Given the description of an element on the screen output the (x, y) to click on. 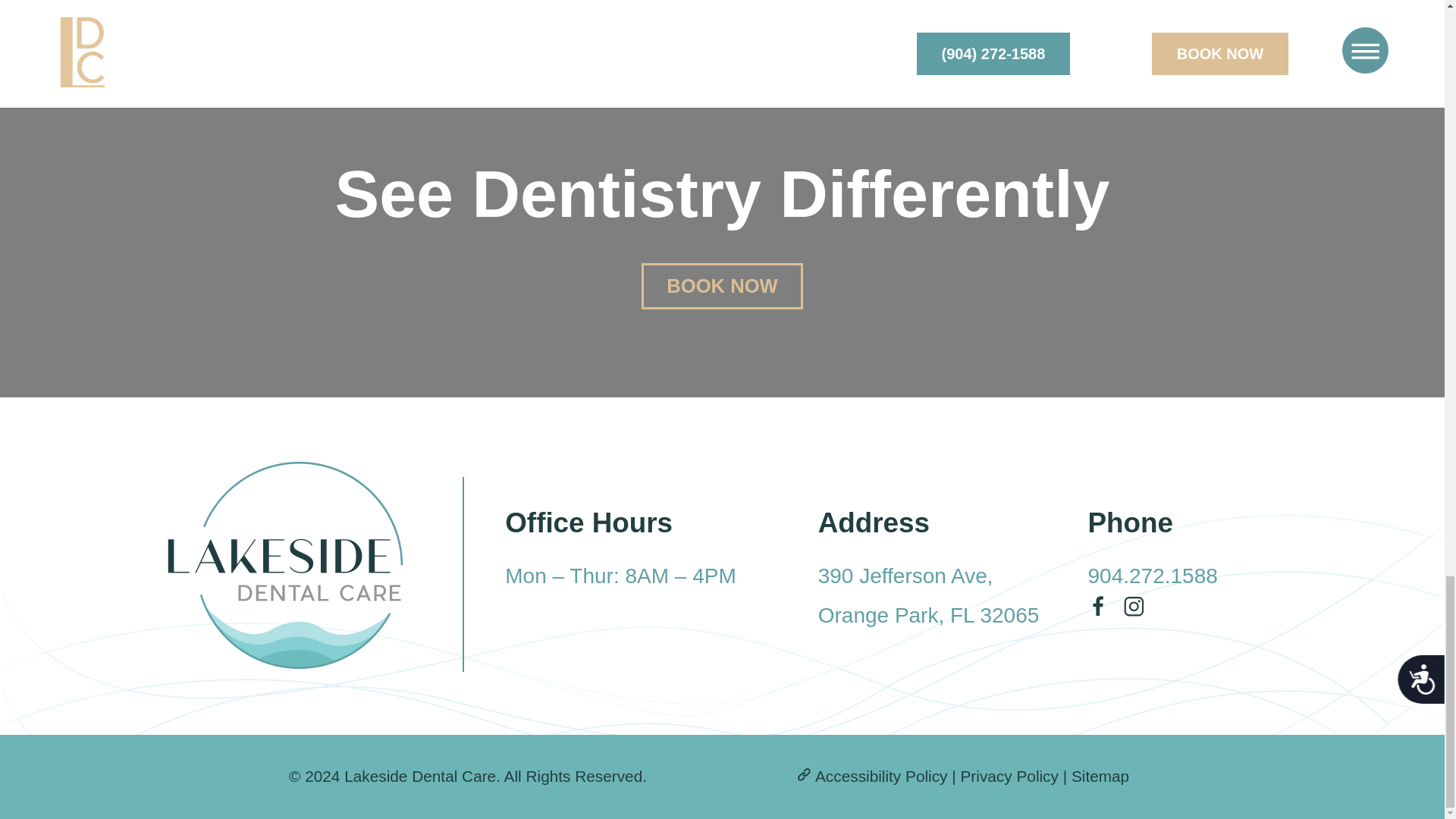
Sitemap (1100, 775)
904.272.1588 (1152, 576)
BOOK NOW (722, 286)
Privacy Policy (928, 595)
Accessibility Policy (1008, 775)
